Given the description of an element on the screen output the (x, y) to click on. 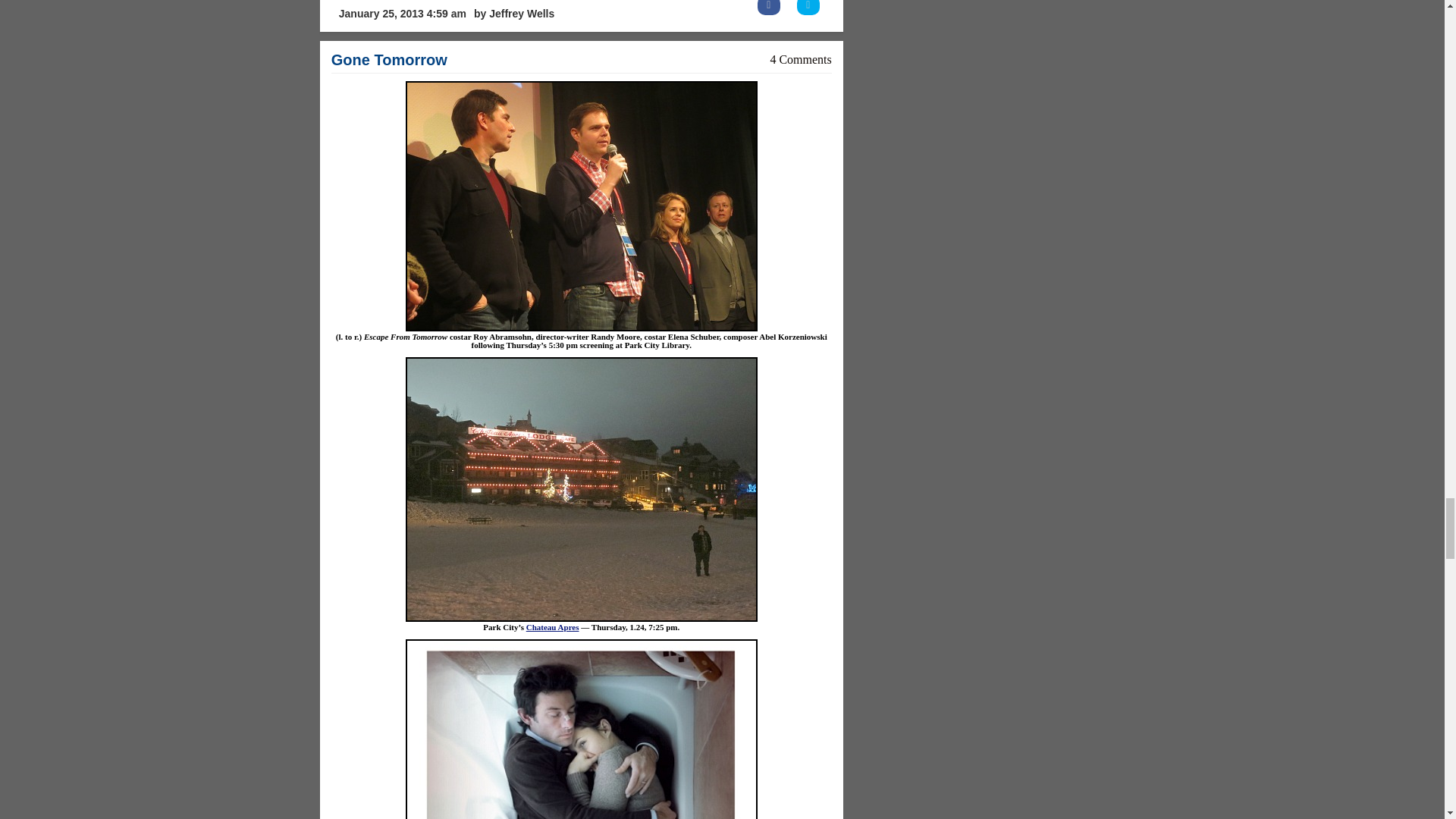
Permanent Link to Gone Tomorrow (388, 59)
